Given the description of an element on the screen output the (x, y) to click on. 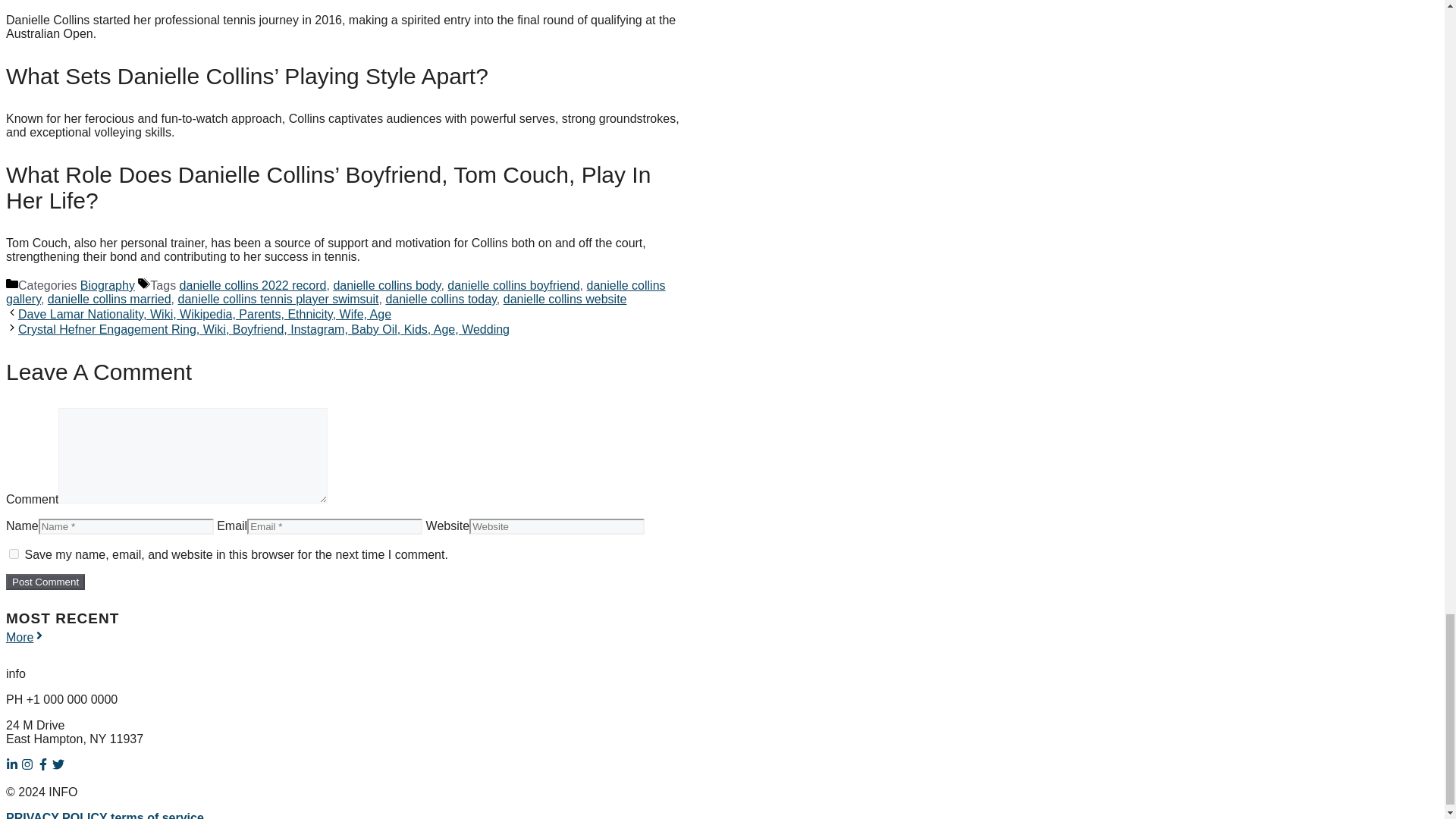
yes (13, 553)
danielle collins 2022 record (252, 285)
Biography (107, 285)
Post Comment (44, 581)
